Given the description of an element on the screen output the (x, y) to click on. 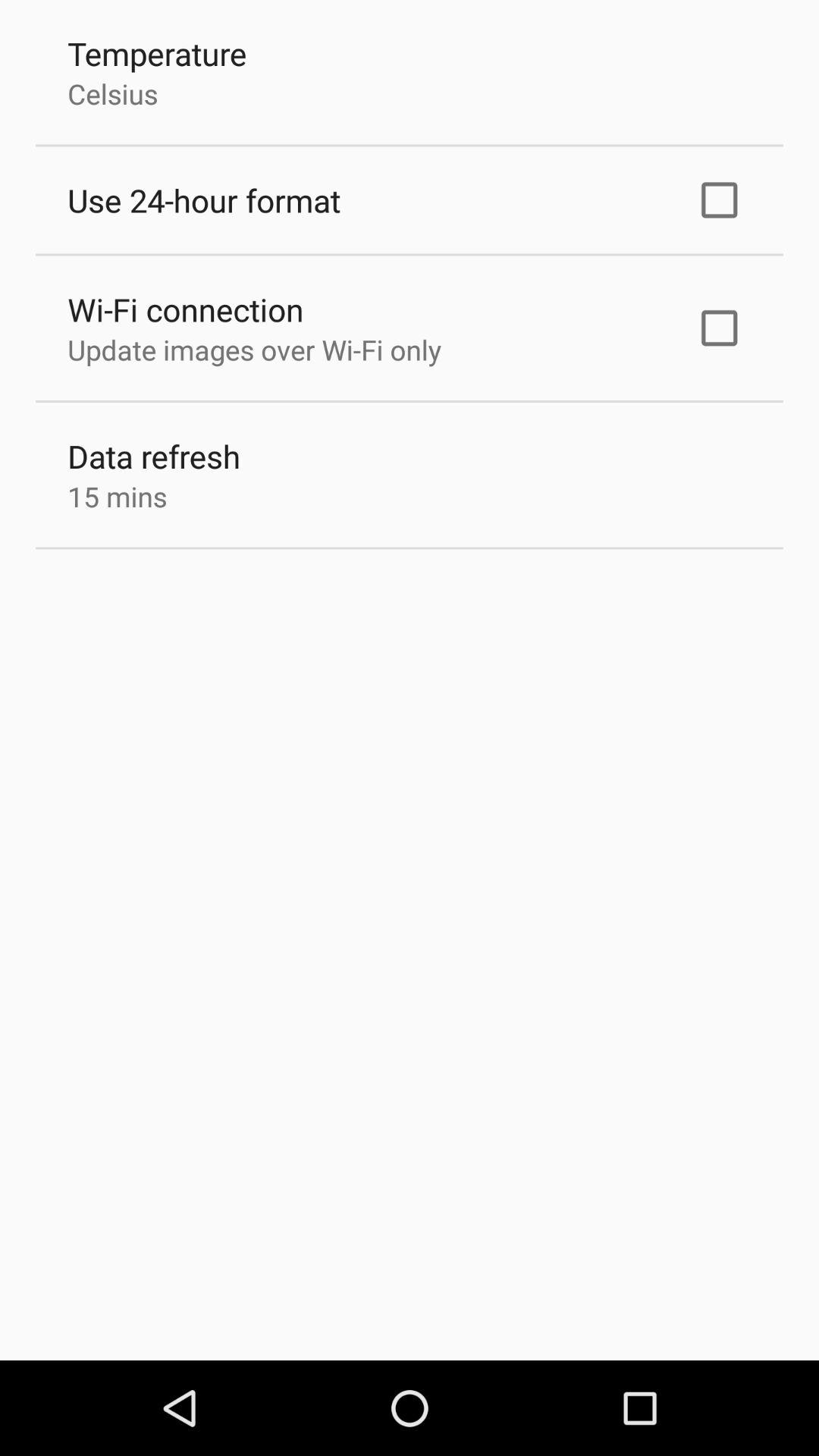
tap item below the celsius icon (203, 199)
